Given the description of an element on the screen output the (x, y) to click on. 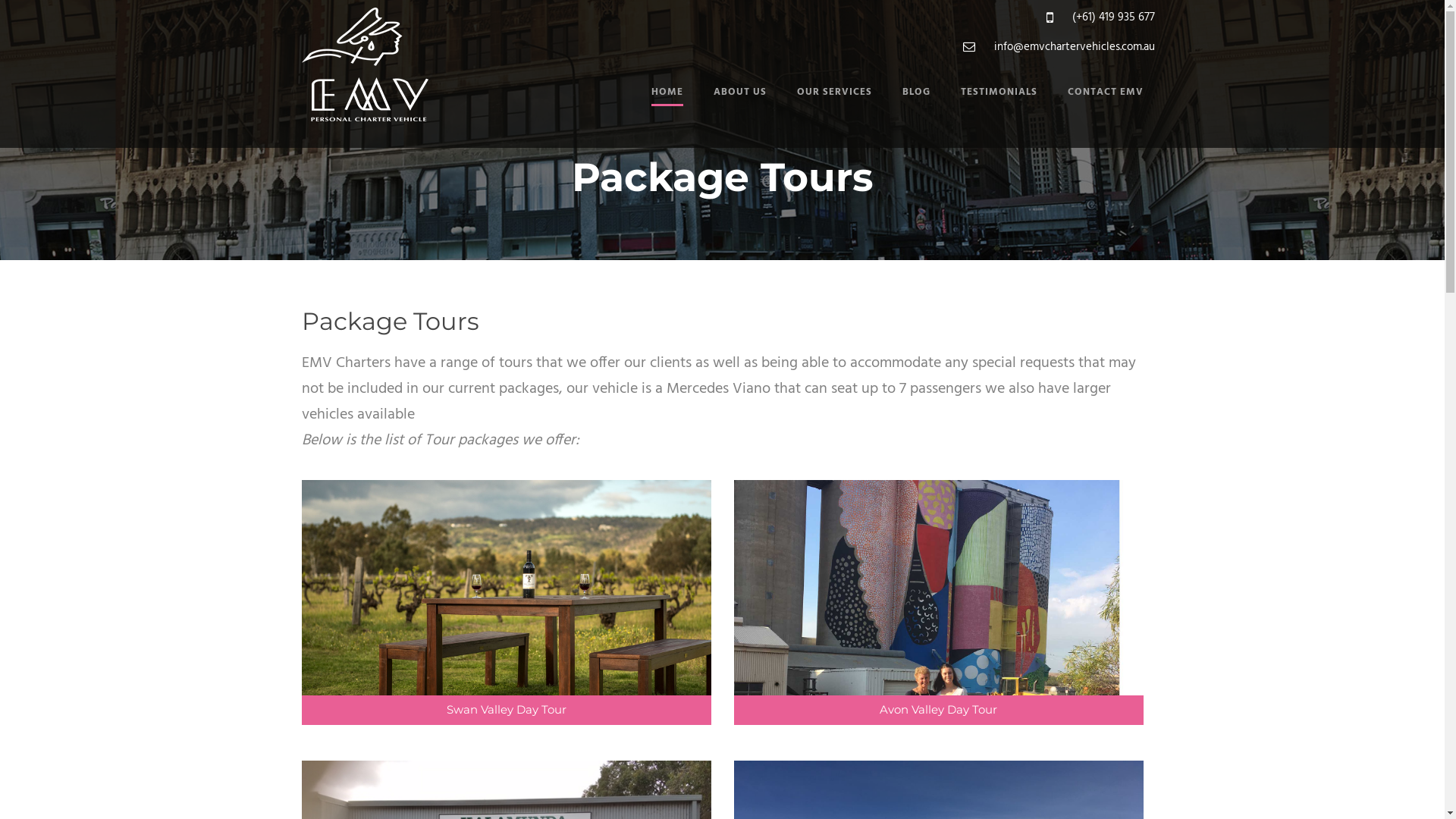
TESTIMONIALS Element type: text (982, 109)
BLOG Element type: text (901, 109)
CONTACT EMV Element type: text (1090, 109)
HOME Element type: text (666, 109)
ABOUT US Element type: text (723, 109)
OUR SERVICES Element type: text (818, 109)
